Given the description of an element on the screen output the (x, y) to click on. 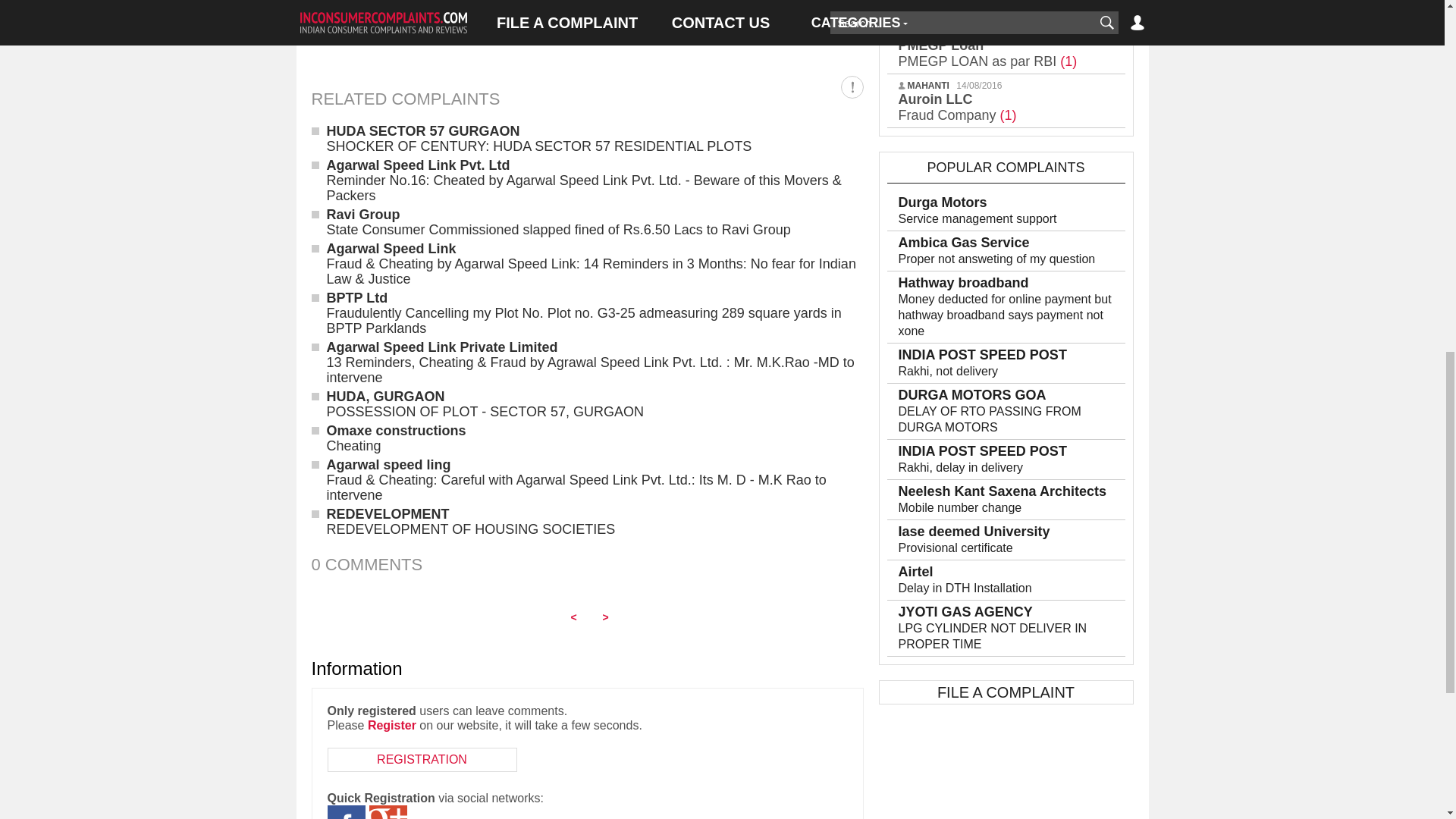
Login with Facebook (346, 812)
Login with Google (387, 812)
Advertisement (587, 28)
PMEGP Loan - PMEGP LOAN as par RBI (987, 52)
